Given the description of an element on the screen output the (x, y) to click on. 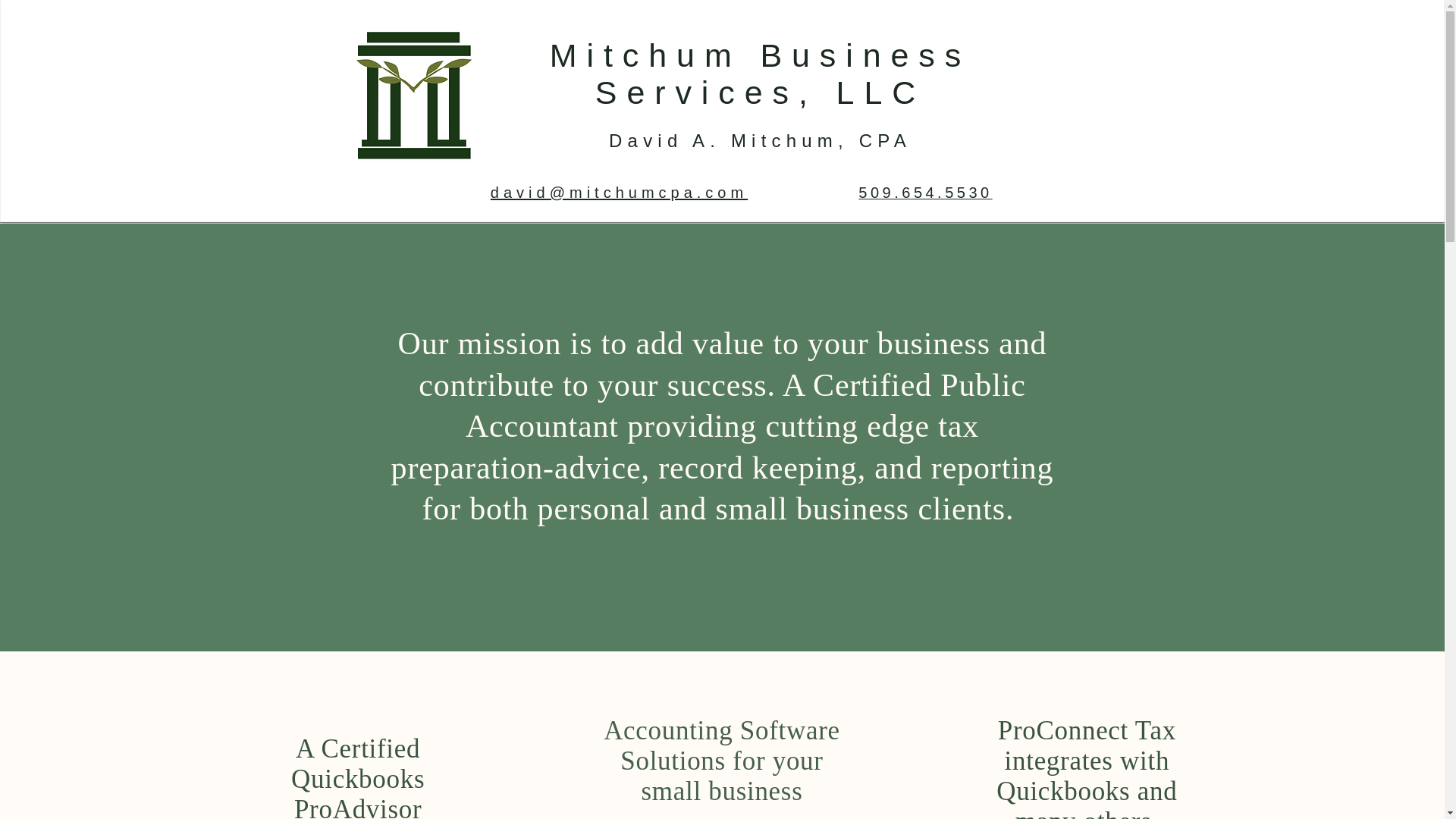
David A. Mitchum, CPA (759, 140)
509.654.5530 (925, 193)
Mitchum Business Services, LLC (760, 73)
